Given the description of an element on the screen output the (x, y) to click on. 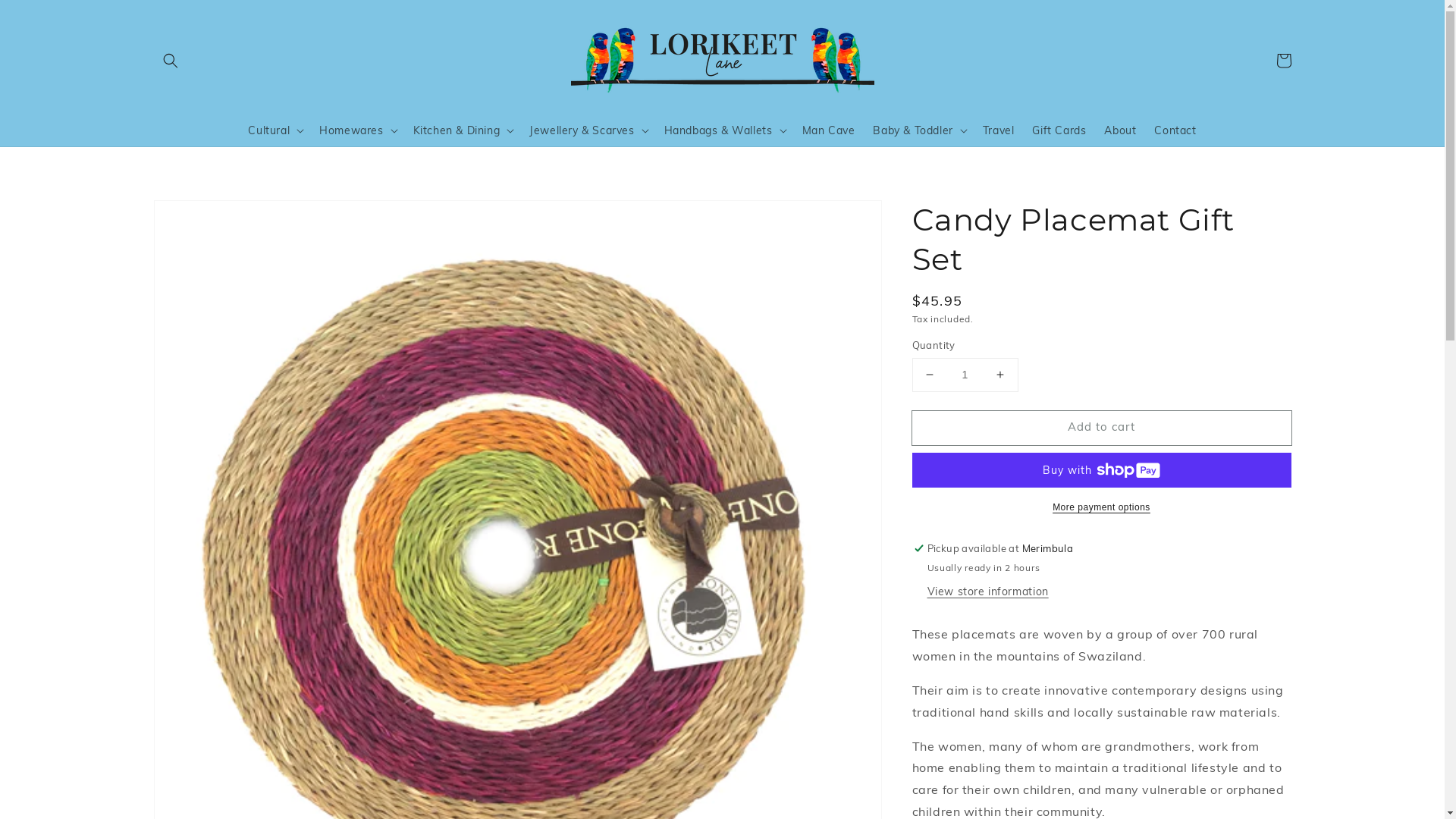
Gift Cards Element type: text (1058, 129)
About Element type: text (1120, 129)
Skip to product information Element type: text (198, 216)
View store information Element type: text (987, 591)
Decrease quantity for Candy Placemat Gift Set Element type: text (930, 374)
More payment options Element type: text (1100, 506)
Contact Element type: text (1174, 129)
Man Cave Element type: text (828, 129)
Travel Element type: text (998, 129)
Increase quantity for Candy Placemat Gift Set Element type: text (999, 374)
Add to cart Element type: text (1100, 428)
Cart Element type: text (1282, 60)
